Given the description of an element on the screen output the (x, y) to click on. 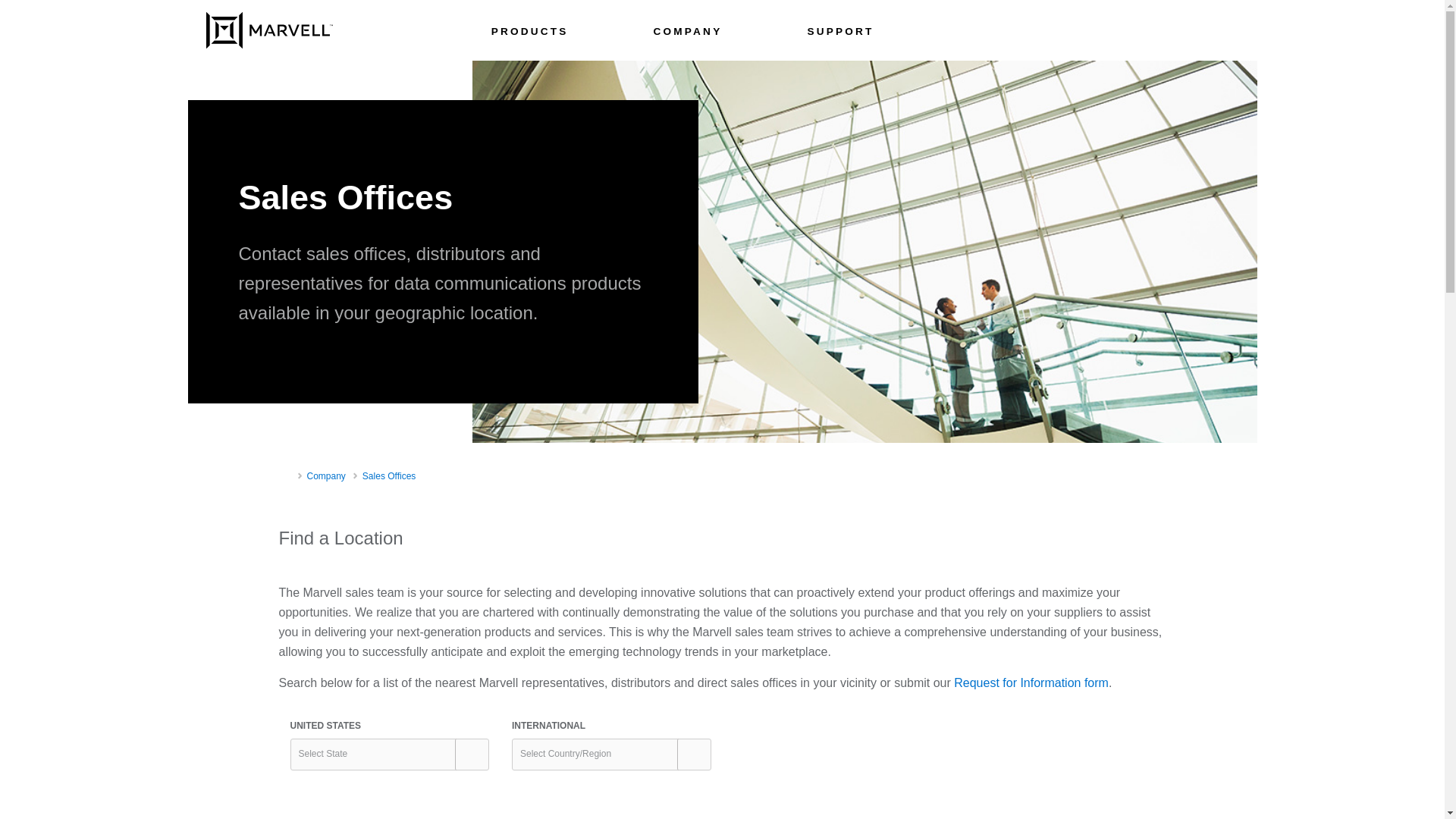
COMPANY (687, 35)
Skip to content (164, 15)
search icon (1235, 29)
Login link (1145, 29)
PRODUCTS (530, 35)
SUPPORT (839, 35)
